Given the description of an element on the screen output the (x, y) to click on. 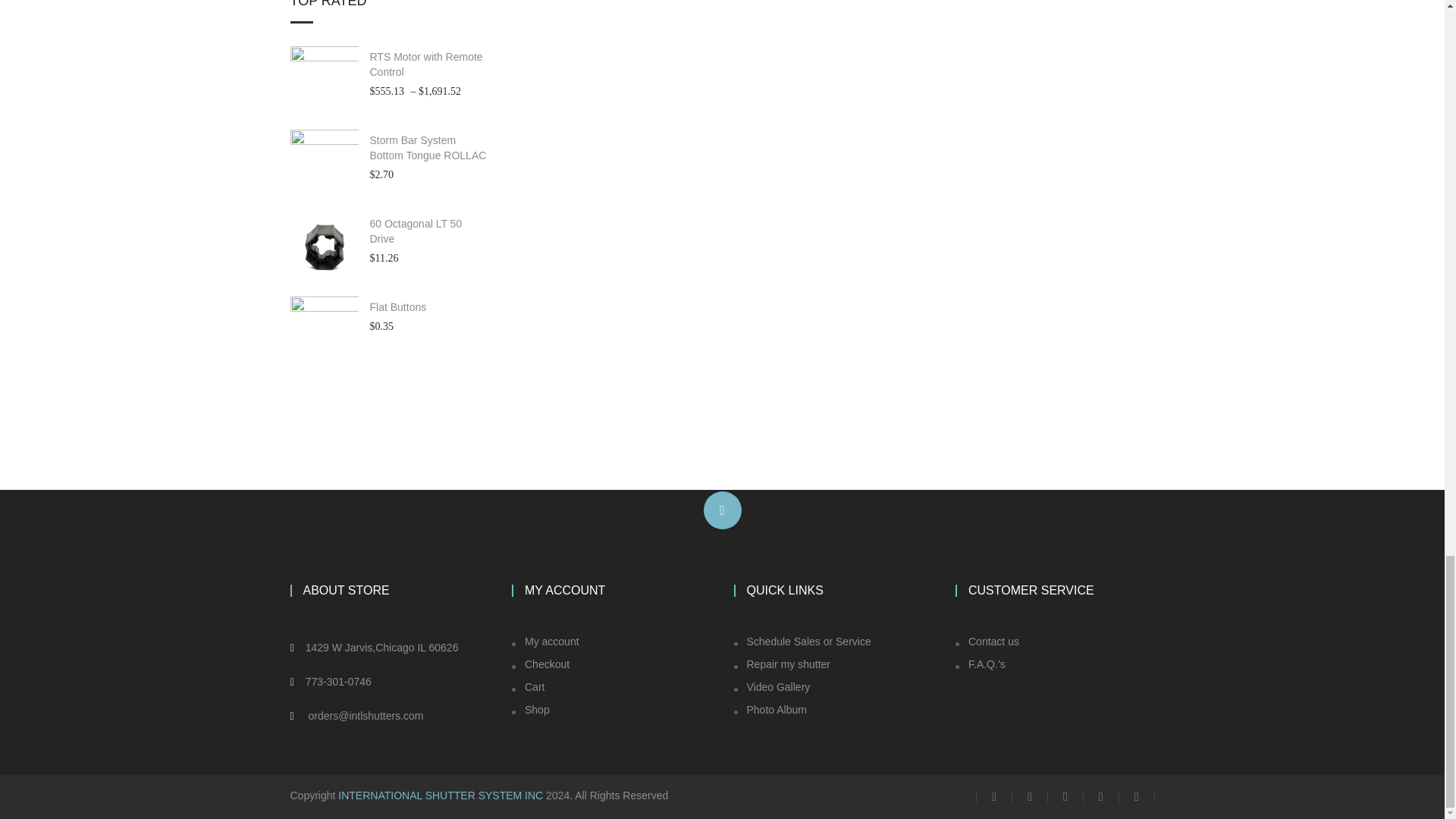
RTS Motor with Remote Control (429, 64)
Storm Bar System Bottom Tongue ROLLAC (429, 148)
60 Octagonal LT 50 Drive (429, 232)
Flat Buttons (429, 307)
Twitter (993, 796)
